Given the description of an element on the screen output the (x, y) to click on. 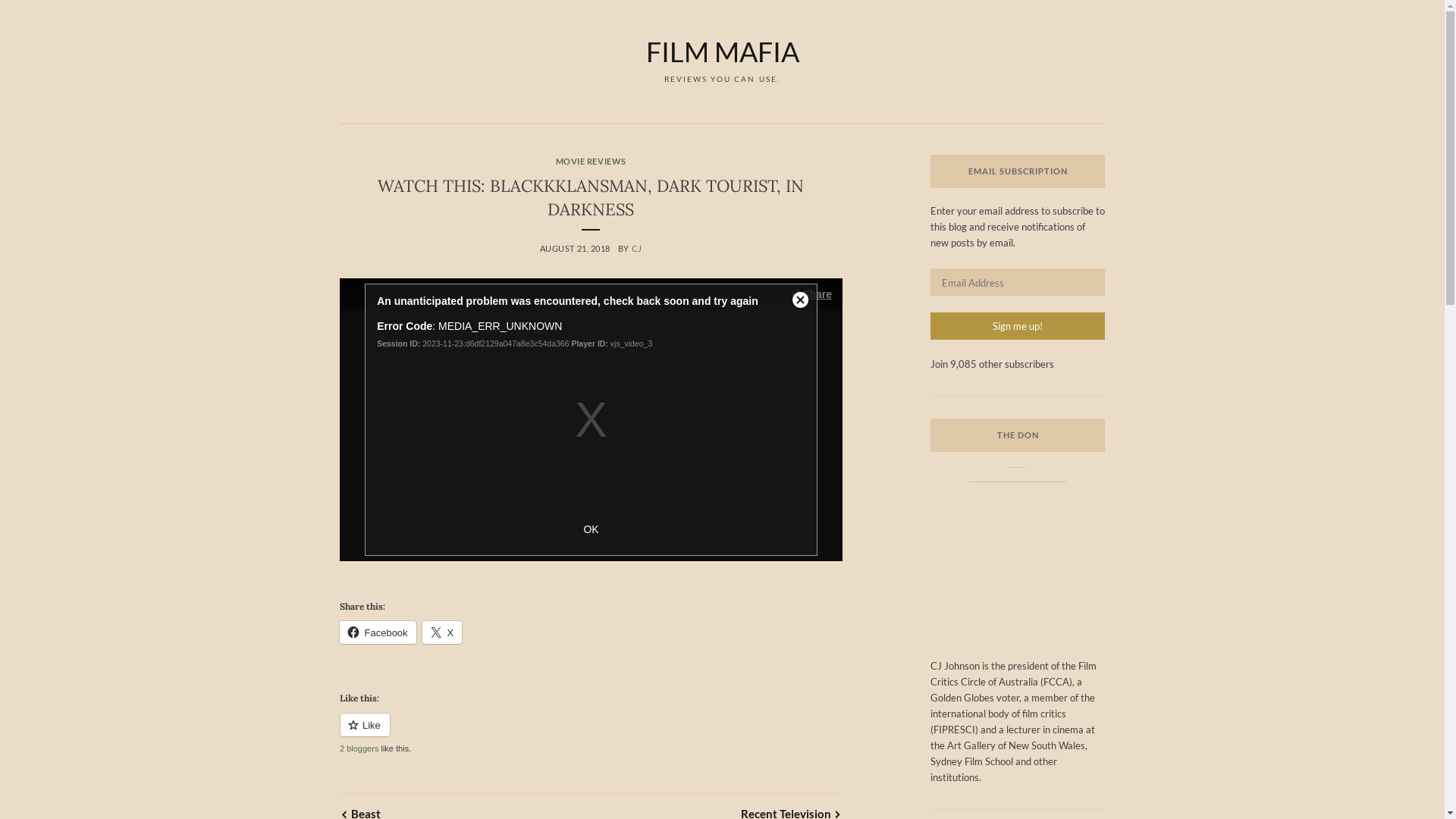
Like or Reblog Element type: hover (590, 733)
FILM MAFIA Element type: text (722, 51)
CJ Element type: text (636, 248)
MOVIE REVIEWS Element type: text (590, 161)
Facebook Element type: text (377, 632)
X Element type: text (442, 632)
Sign me up! Element type: text (1017, 325)
